Given the description of an element on the screen output the (x, y) to click on. 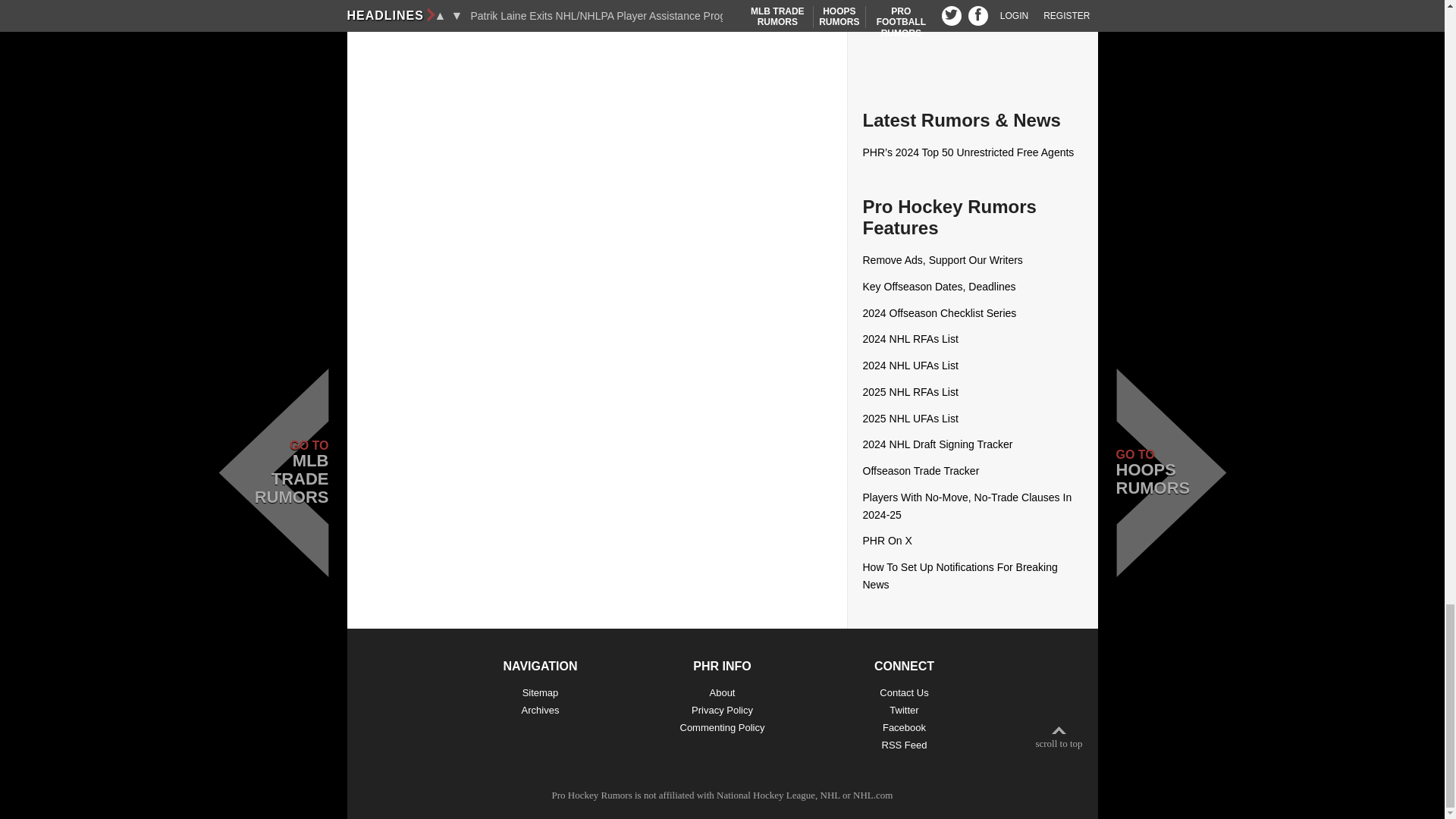
Pro Hockey Rumors (591, 794)
